Given the description of an element on the screen output the (x, y) to click on. 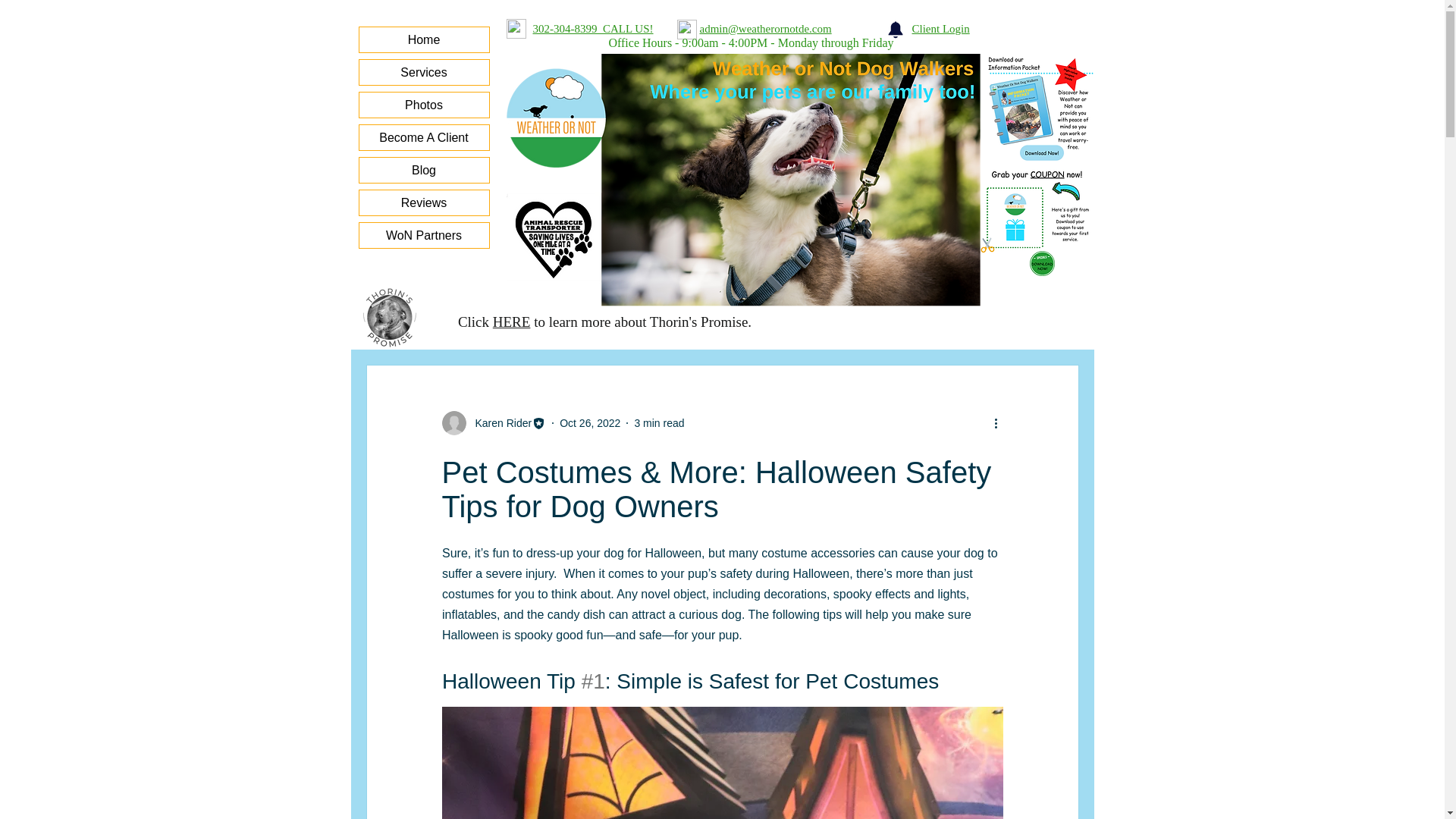
Become A Client (424, 137)
WoN Partners (424, 235)
Blog (424, 170)
Reviews (424, 202)
302-304-8399  CALL US! (592, 28)
3 min read (658, 422)
Karen Rider (498, 423)
Home (424, 39)
Client Login (940, 28)
Photos (424, 104)
HERE (512, 321)
Services (424, 72)
Karen Rider (493, 422)
Oct 26, 2022 (589, 422)
